Given the description of an element on the screen output the (x, y) to click on. 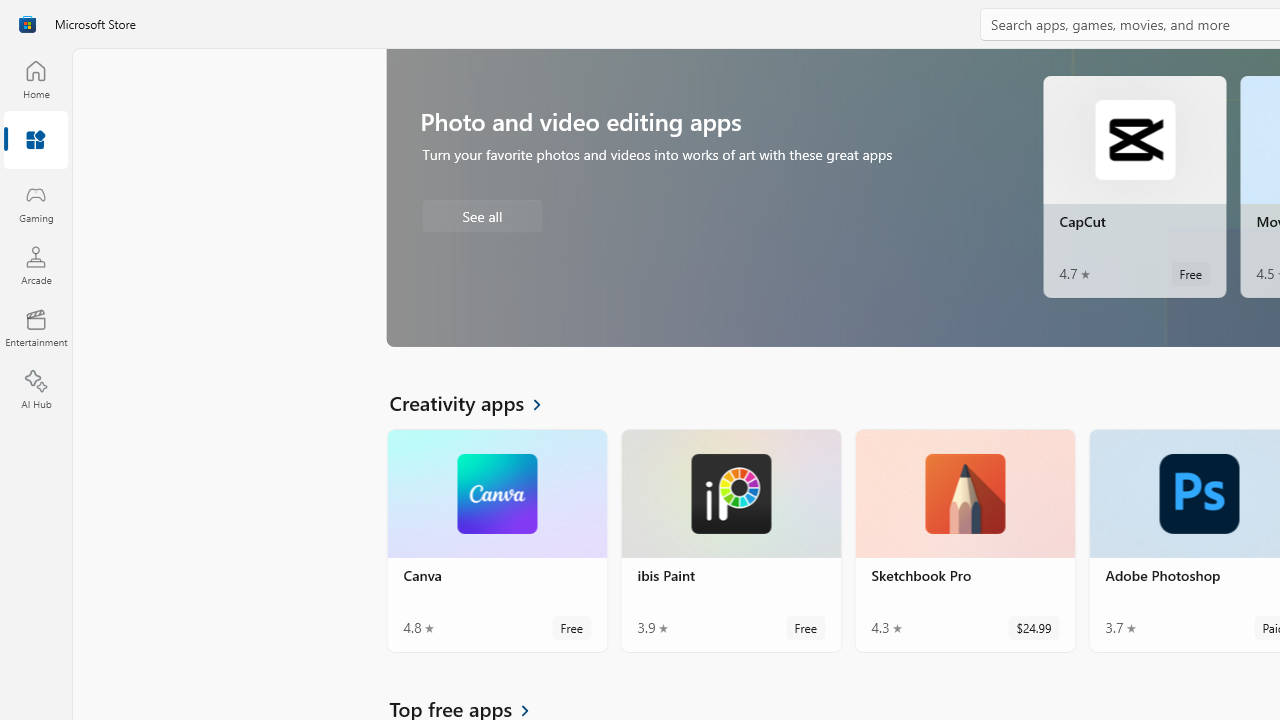
CapCut. Average rating of 4.7 out of five stars. Free   (1134, 194)
ibis Paint. Average rating of 3.9 out of five stars. Free   (730, 548)
Canva. Average rating of 4.8 out of five stars. Free   (497, 345)
See all  Creativity apps (477, 207)
